Given the description of an element on the screen output the (x, y) to click on. 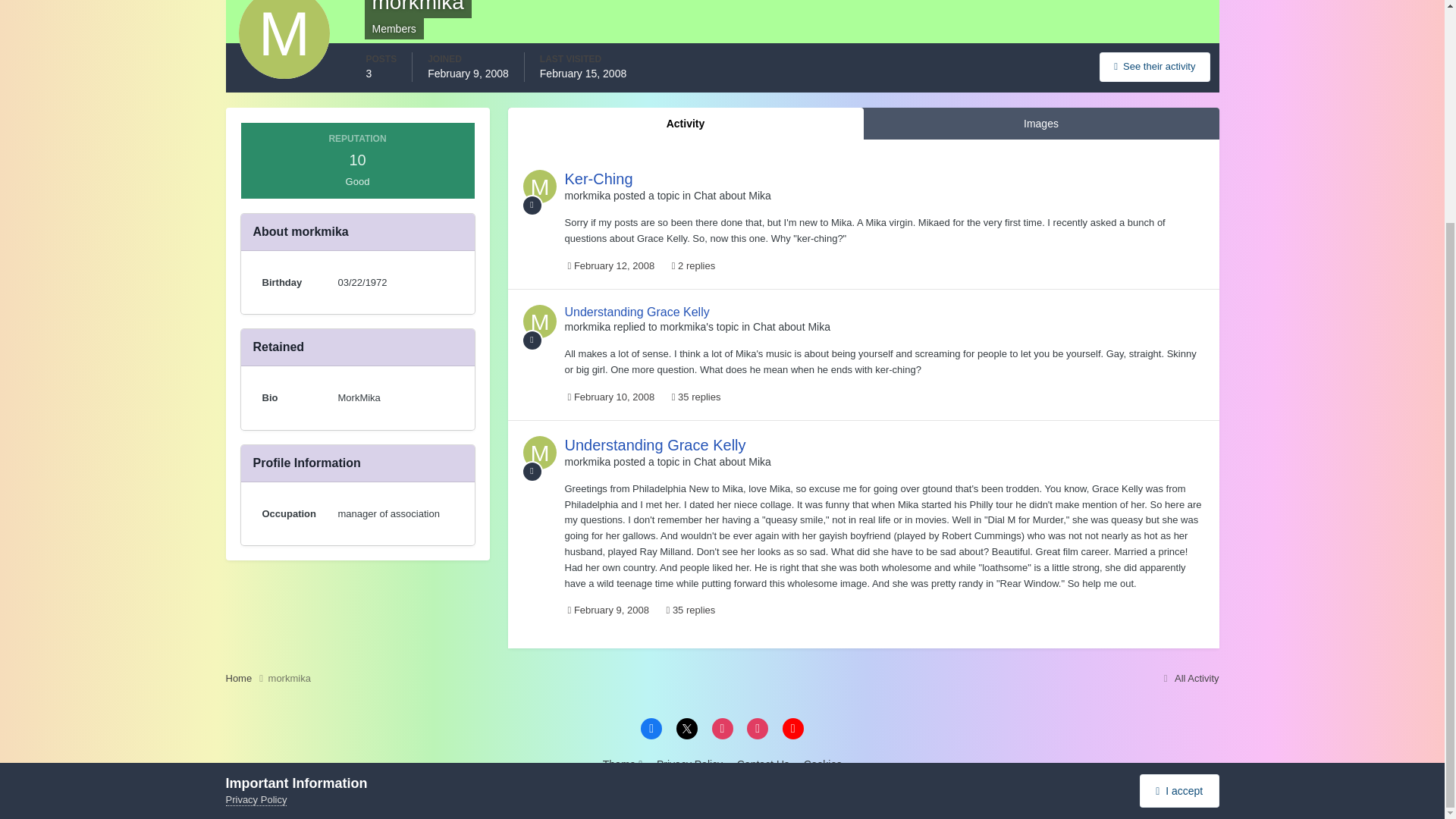
Go to morkmika's profile (587, 195)
Go to morkmika's profile (683, 326)
Topic (531, 471)
Images (1040, 123)
Go to morkmika's profile (539, 321)
Go to morkmika's profile (539, 186)
Go to morkmika's profile (587, 326)
 See their activity (1154, 66)
Ker-Ching (597, 178)
Post (531, 340)
Activity (685, 123)
Topic (531, 205)
Go to morkmika's profile (587, 461)
Go to morkmika's profile (539, 452)
morkmika's Content (1154, 66)
